Given the description of an element on the screen output the (x, y) to click on. 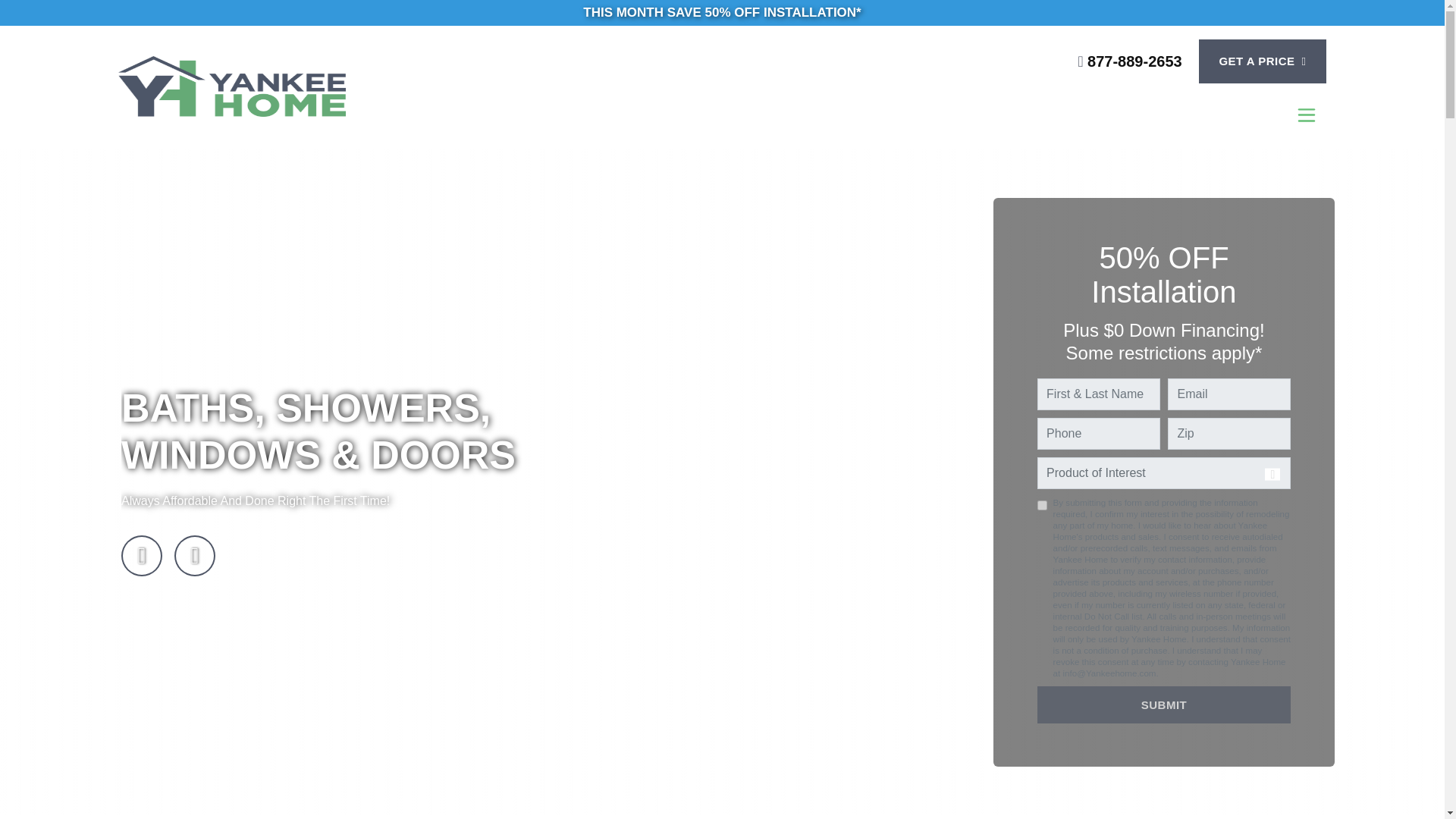
Yankee Home Improvement (319, 86)
Submit (1163, 704)
